Given the description of an element on the screen output the (x, y) to click on. 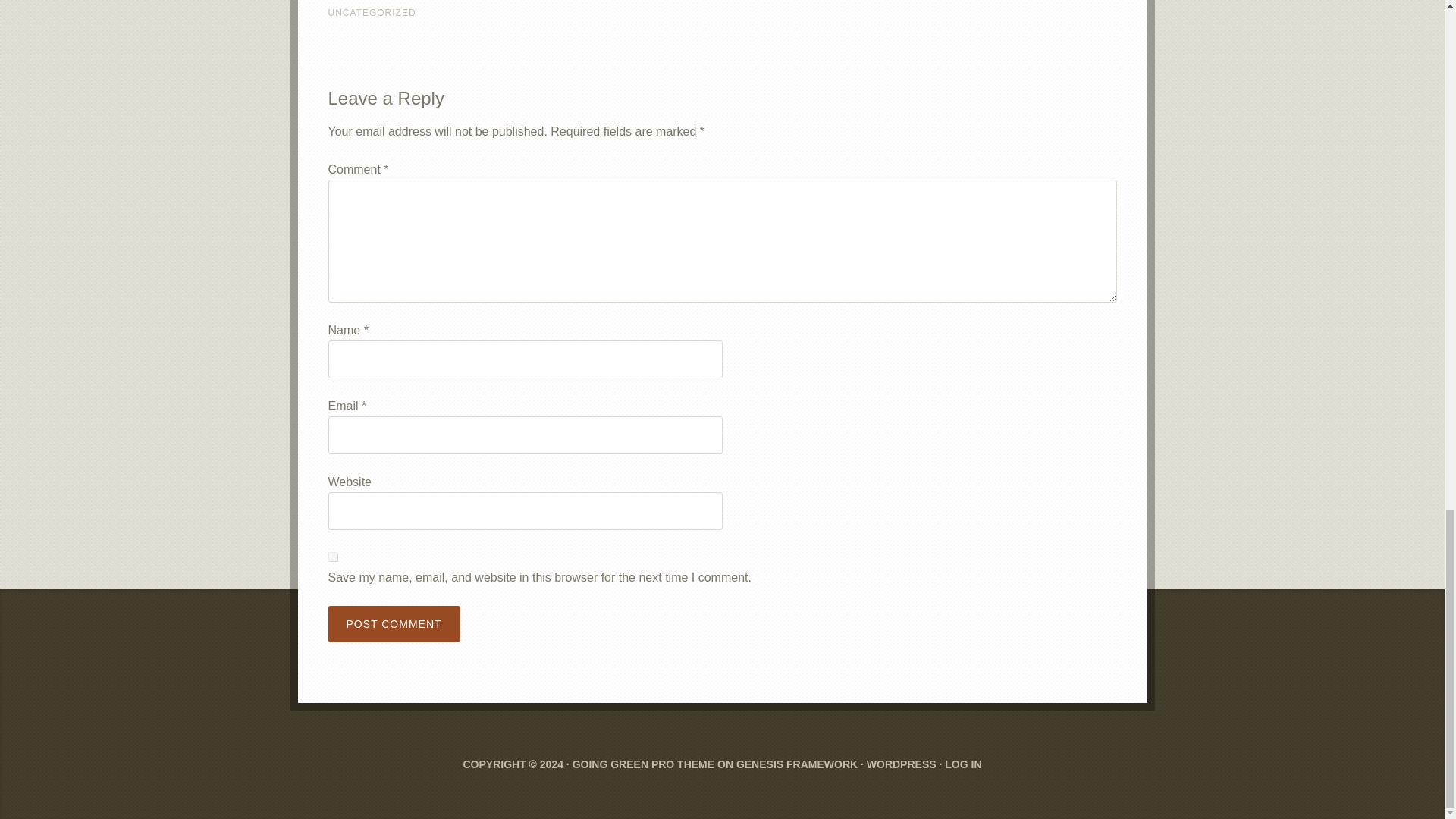
GOING GREEN PRO THEME (643, 764)
UNCATEGORIZED (370, 12)
WORDPRESS (901, 764)
GENESIS FRAMEWORK (796, 764)
LOG IN (962, 764)
Post Comment (393, 624)
yes (332, 556)
Post Comment (393, 624)
